Given the description of an element on the screen output the (x, y) to click on. 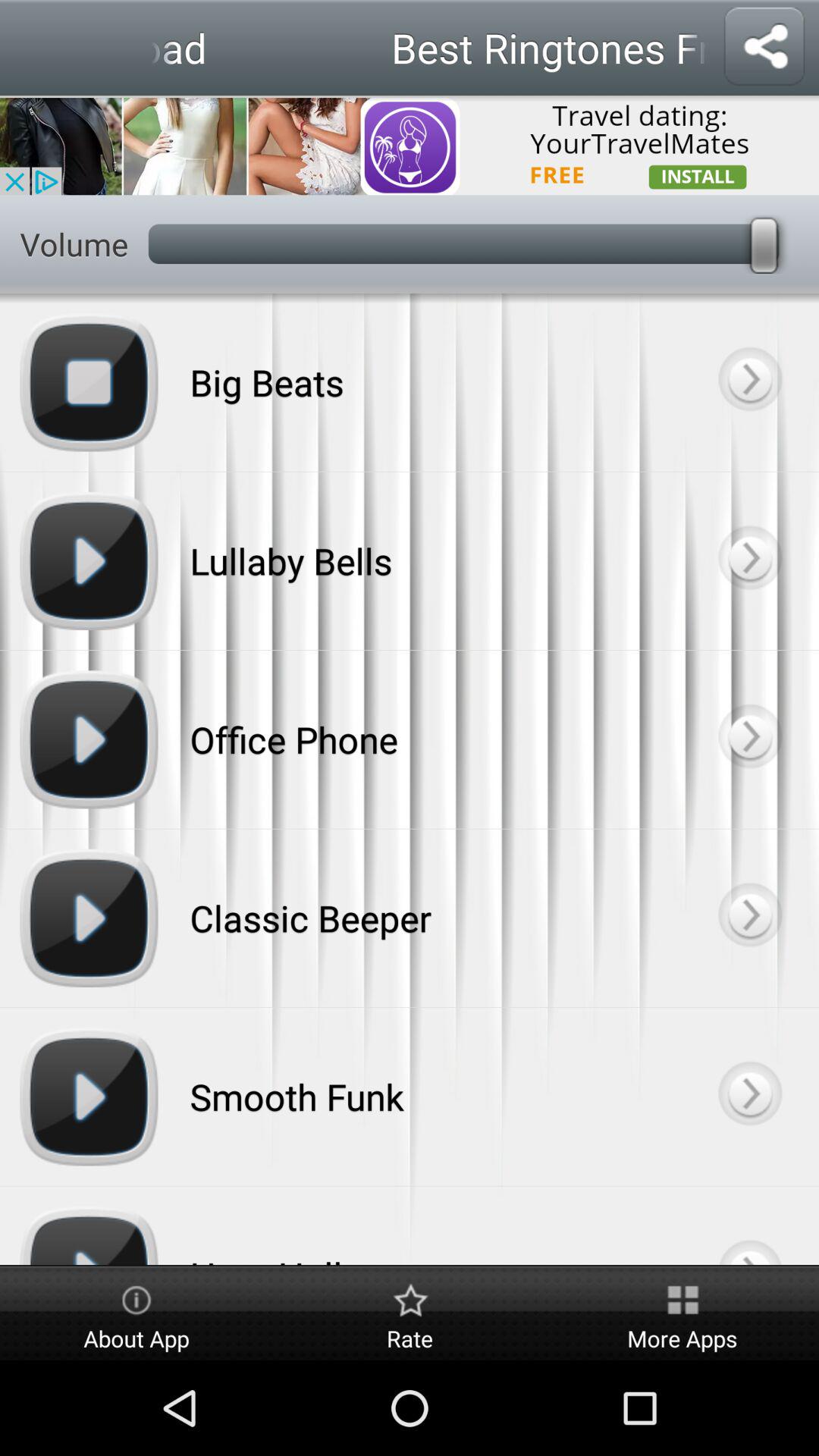
customize selected tone (749, 739)
